Given the description of an element on the screen output the (x, y) to click on. 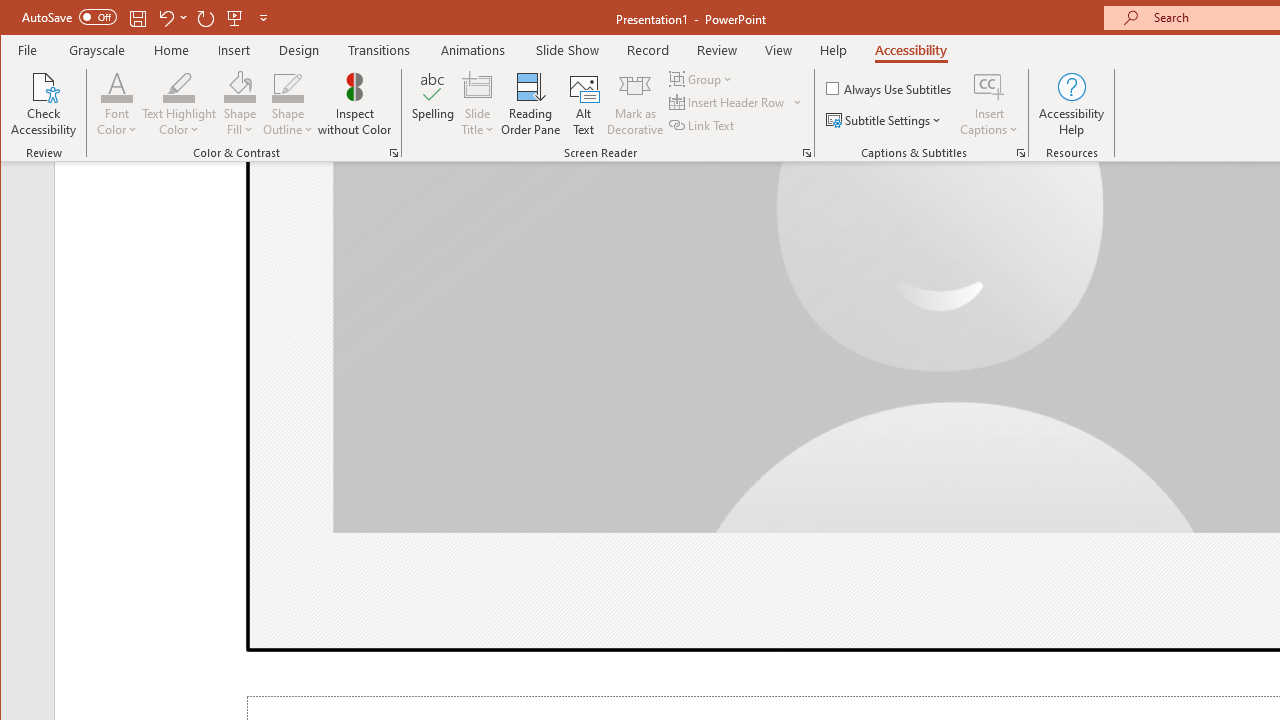
Accessibility Help (1071, 104)
Subtitle Settings (885, 119)
Insert Captions (989, 104)
Link Text (703, 124)
Color & Contrast (393, 152)
Font Color (116, 104)
Screen Reader (806, 152)
Text Highlight Color (178, 86)
